Given the description of an element on the screen output the (x, y) to click on. 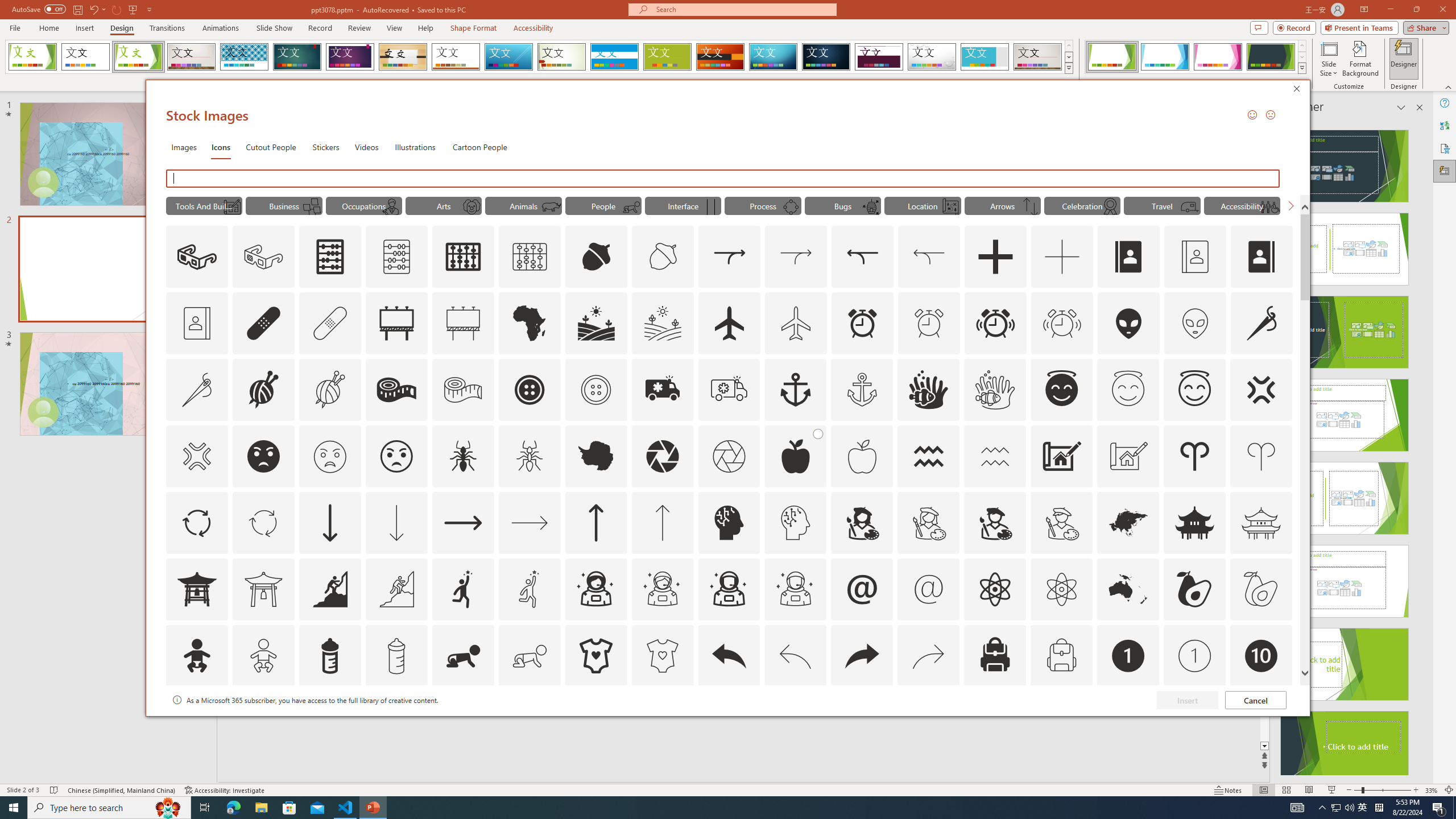
AutomationID: Icons_Badge10_M (196, 721)
AutomationID: Icons_AddressBook_RTL (1261, 256)
AutomationID: Icons_Ribbon_M (1110, 206)
AutomationID: Icons_Badge8 (1061, 721)
AutomationID: Icons_Add (995, 256)
AutomationID: _134_Angel_Face_A (1061, 388)
